Given the description of an element on the screen output the (x, y) to click on. 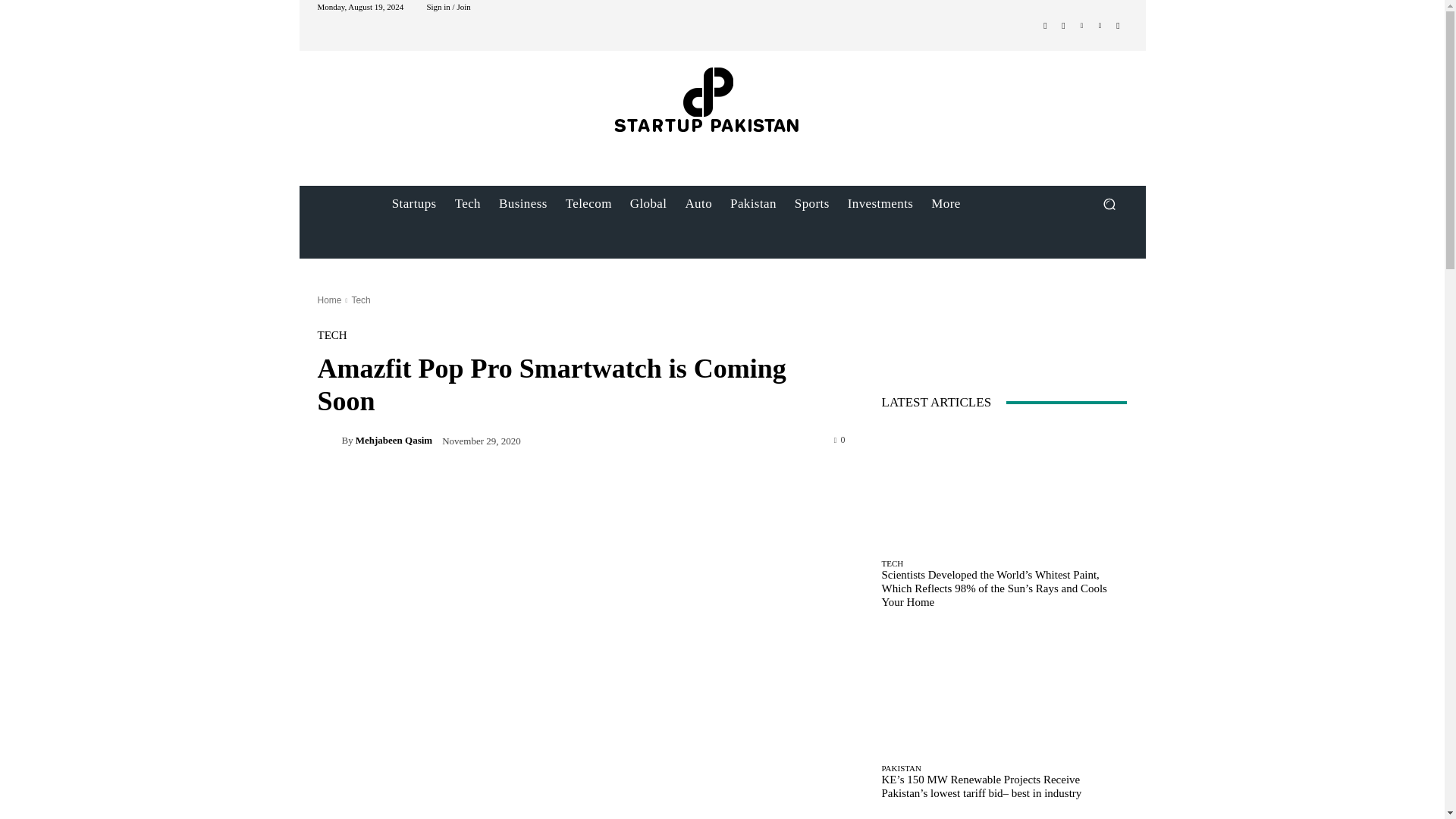
Twitter (1080, 25)
Sports (812, 203)
Youtube (1117, 25)
More (945, 203)
Facebook (1044, 25)
Business (522, 203)
Investments (880, 203)
Auto (697, 203)
Vimeo (1099, 25)
Instagram (1062, 25)
